Given the description of an element on the screen output the (x, y) to click on. 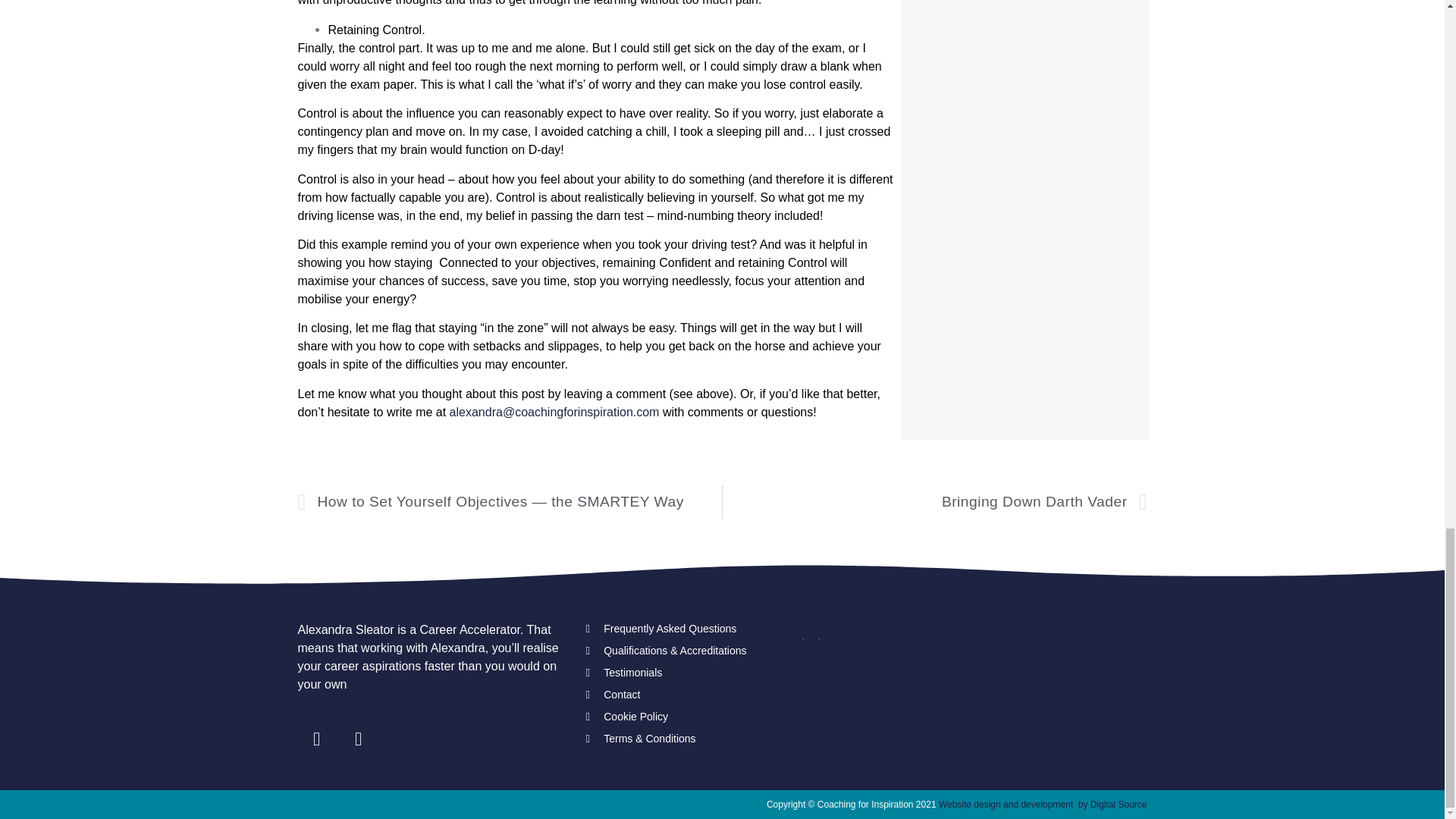
Frequently Asked Questions (682, 628)
Bringing Down Darth Vader (934, 502)
Contact (682, 694)
Testimonials (682, 672)
